Given the description of an element on the screen output the (x, y) to click on. 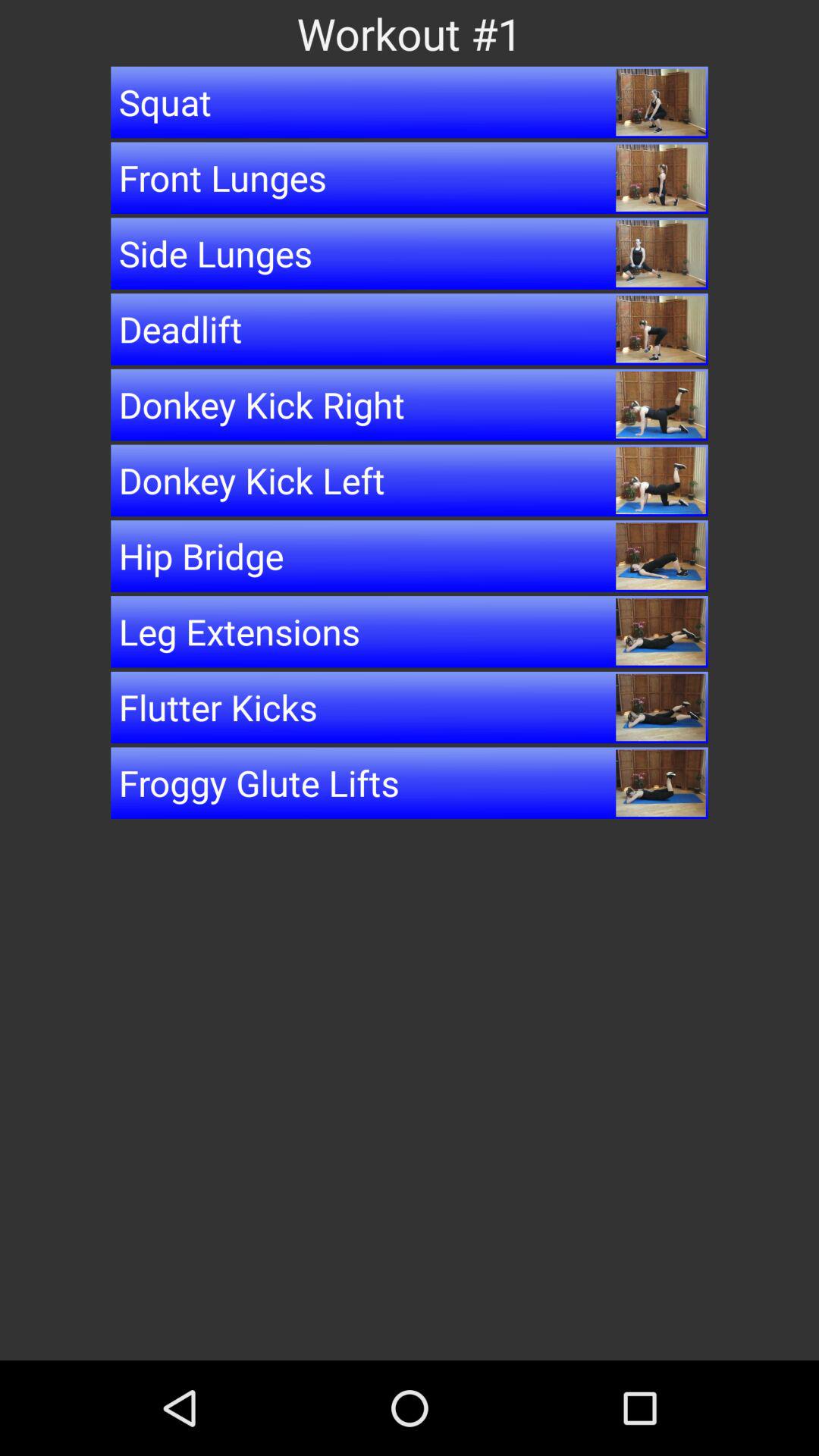
tap icon above the front lunges item (409, 102)
